Given the description of an element on the screen output the (x, y) to click on. 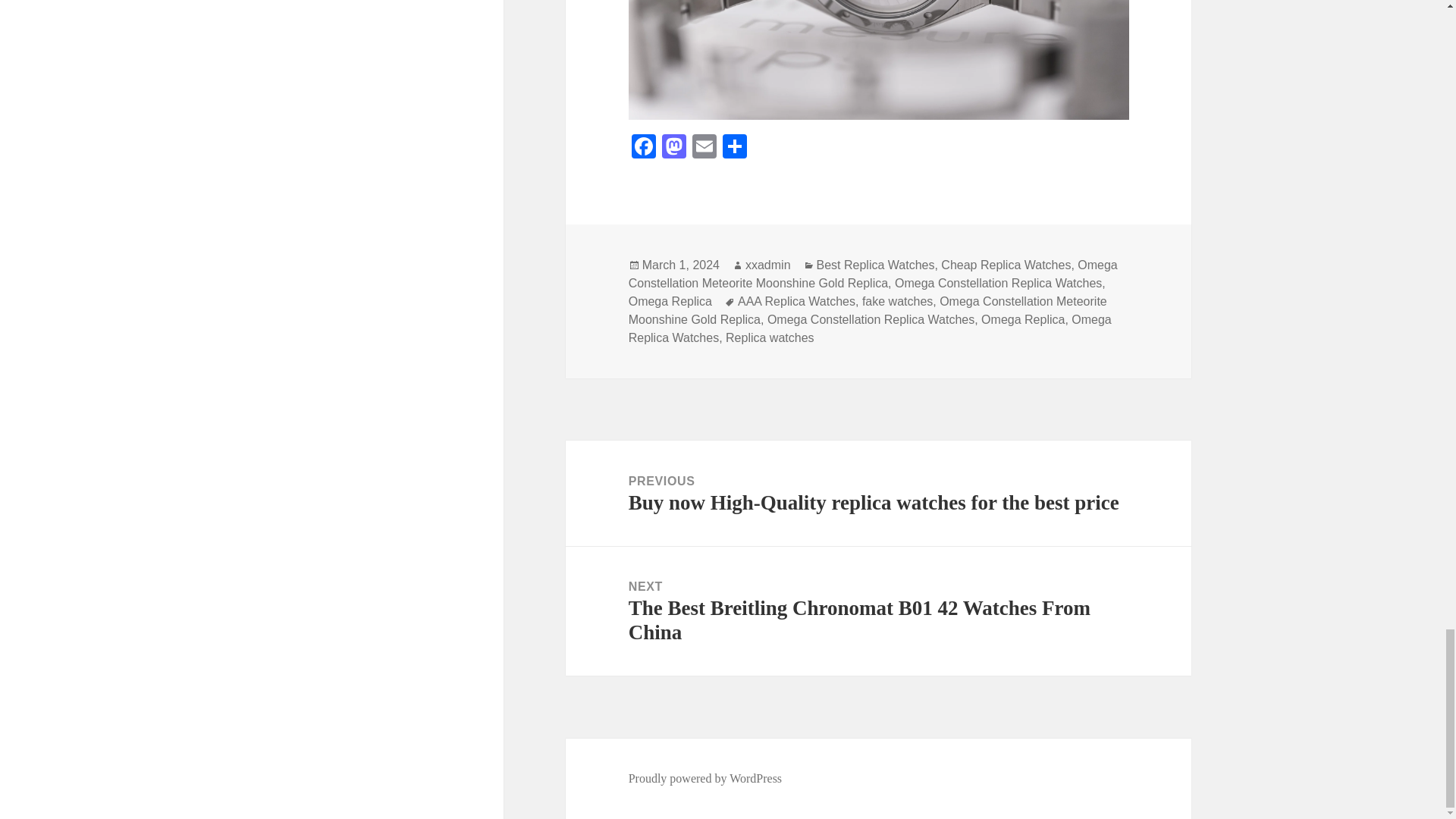
Email (703, 148)
Facebook (643, 148)
Mastodon (673, 148)
